Given the description of an element on the screen output the (x, y) to click on. 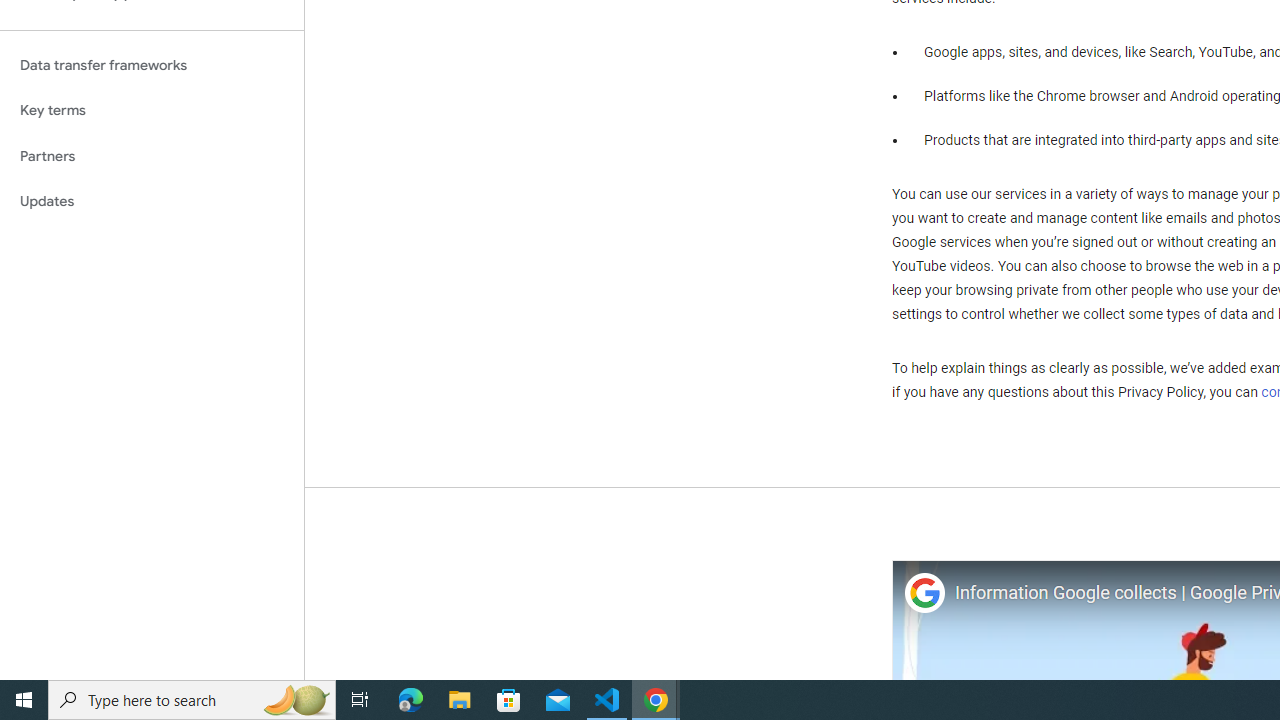
Data transfer frameworks (152, 65)
Key terms (152, 110)
Partners (152, 156)
Photo image of Google (924, 593)
